Given the description of an element on the screen output the (x, y) to click on. 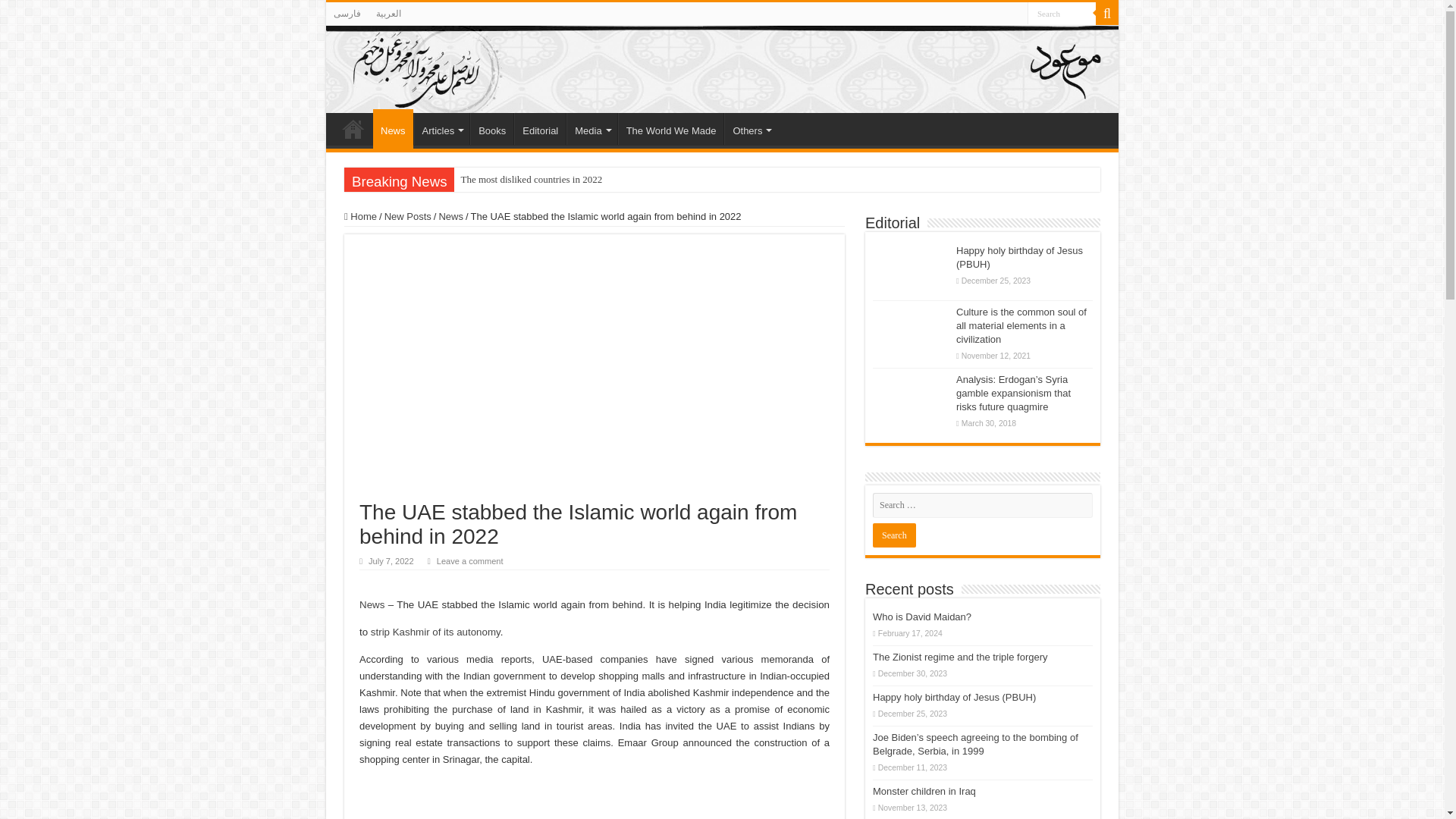
Articles (441, 128)
The World We Made (670, 128)
home (352, 128)
The most disliked countries in 2022 (628, 179)
Search (893, 535)
Search (1061, 13)
Media (590, 128)
Search (1061, 13)
Books (491, 128)
Mouood (722, 69)
